Given the description of an element on the screen output the (x, y) to click on. 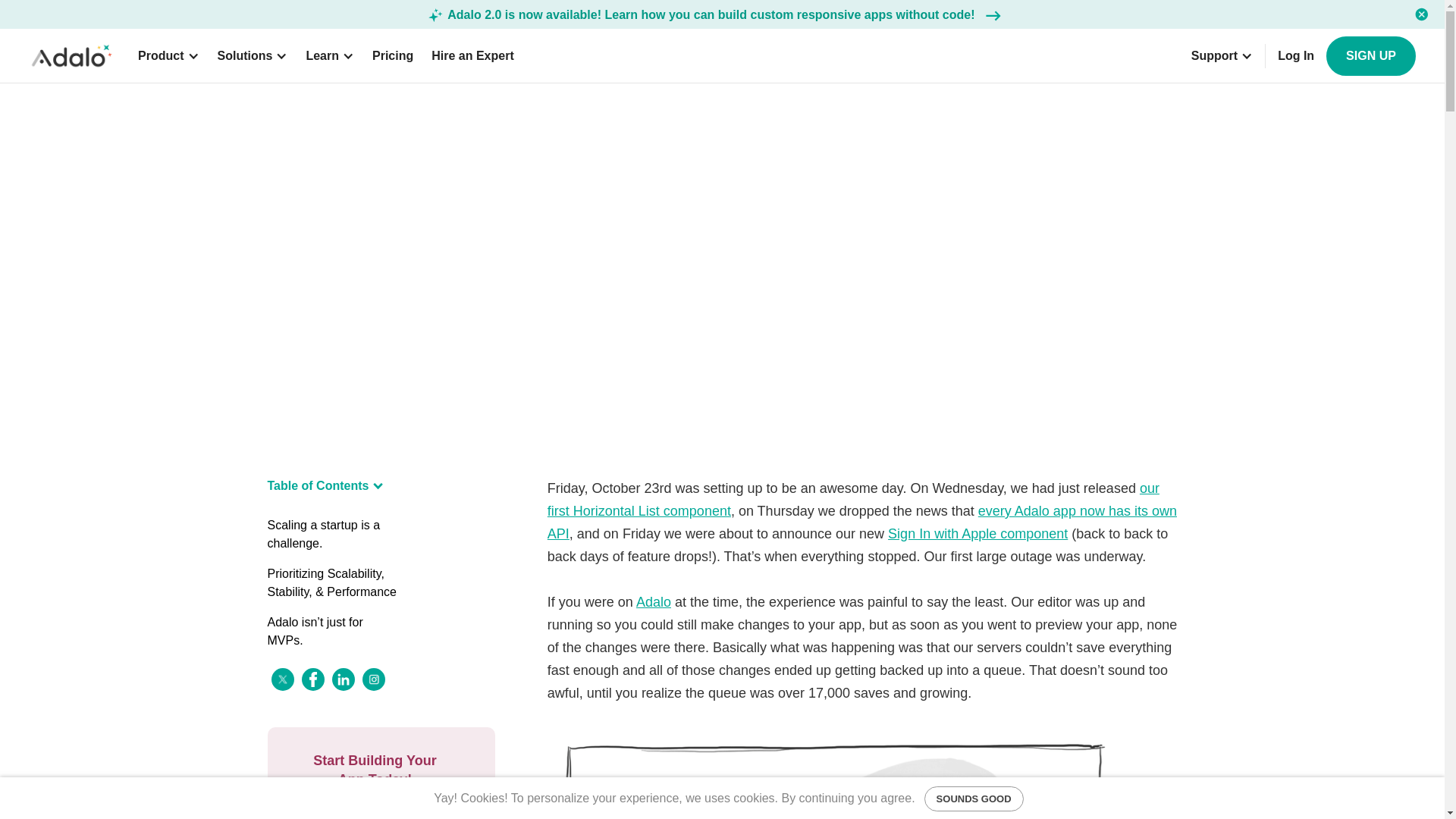
Pricing (392, 55)
Log In (1295, 55)
SIGN UP (1370, 56)
Hire an Expert (472, 55)
Scaling a startup is a challenge. (332, 534)
